Given the description of an element on the screen output the (x, y) to click on. 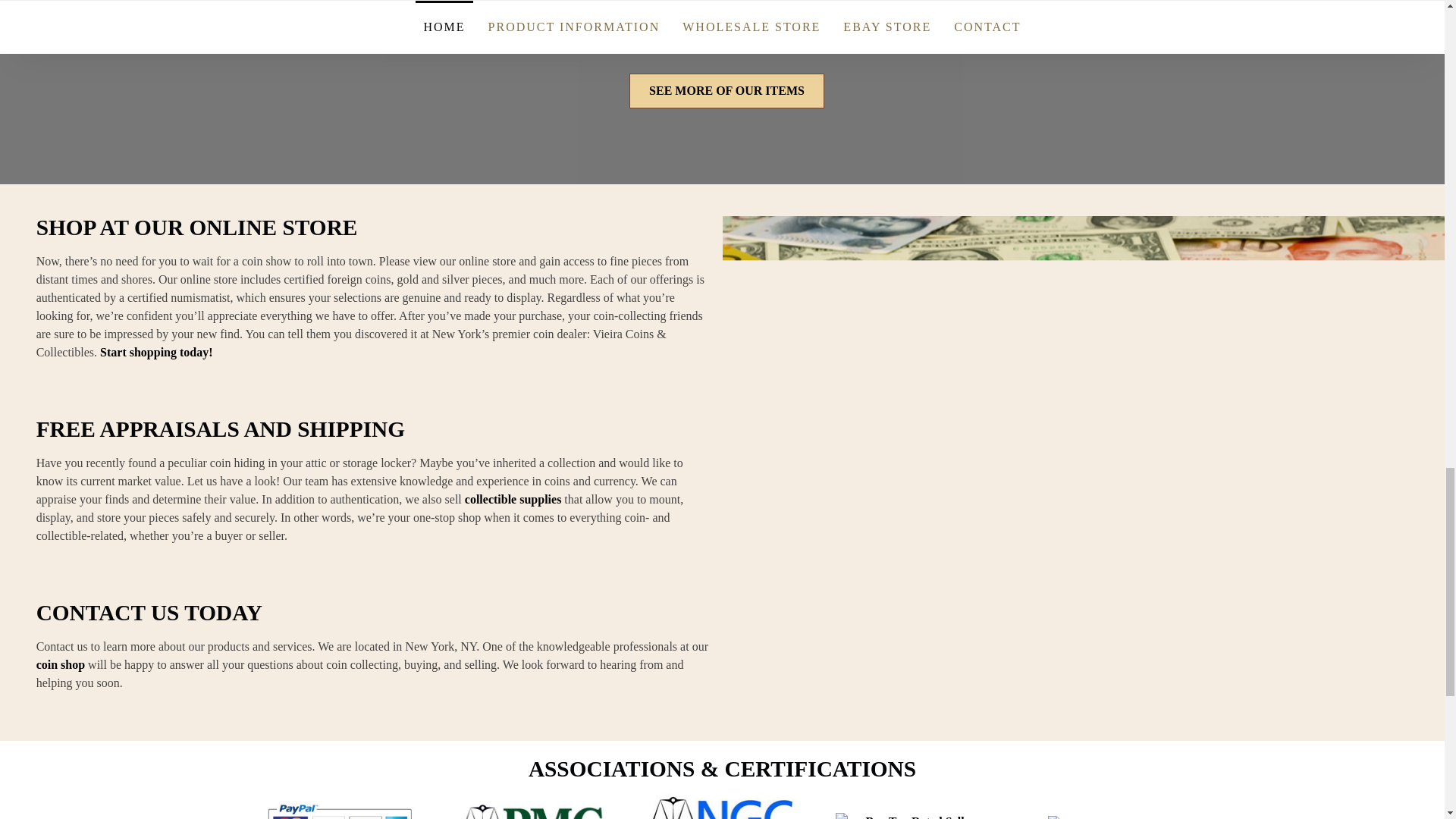
collectible supplies (513, 499)
PayPal Payment Options (343, 809)
Numismatic Guaranty Corporation (721, 806)
PMG Icon (532, 811)
SEE MORE OF OUR ITEMS (726, 90)
eBay Top Rated Seller Certificate (911, 816)
Start shopping today! (156, 351)
coin shop (60, 664)
ANA Life Member (1100, 817)
